Given the description of an element on the screen output the (x, y) to click on. 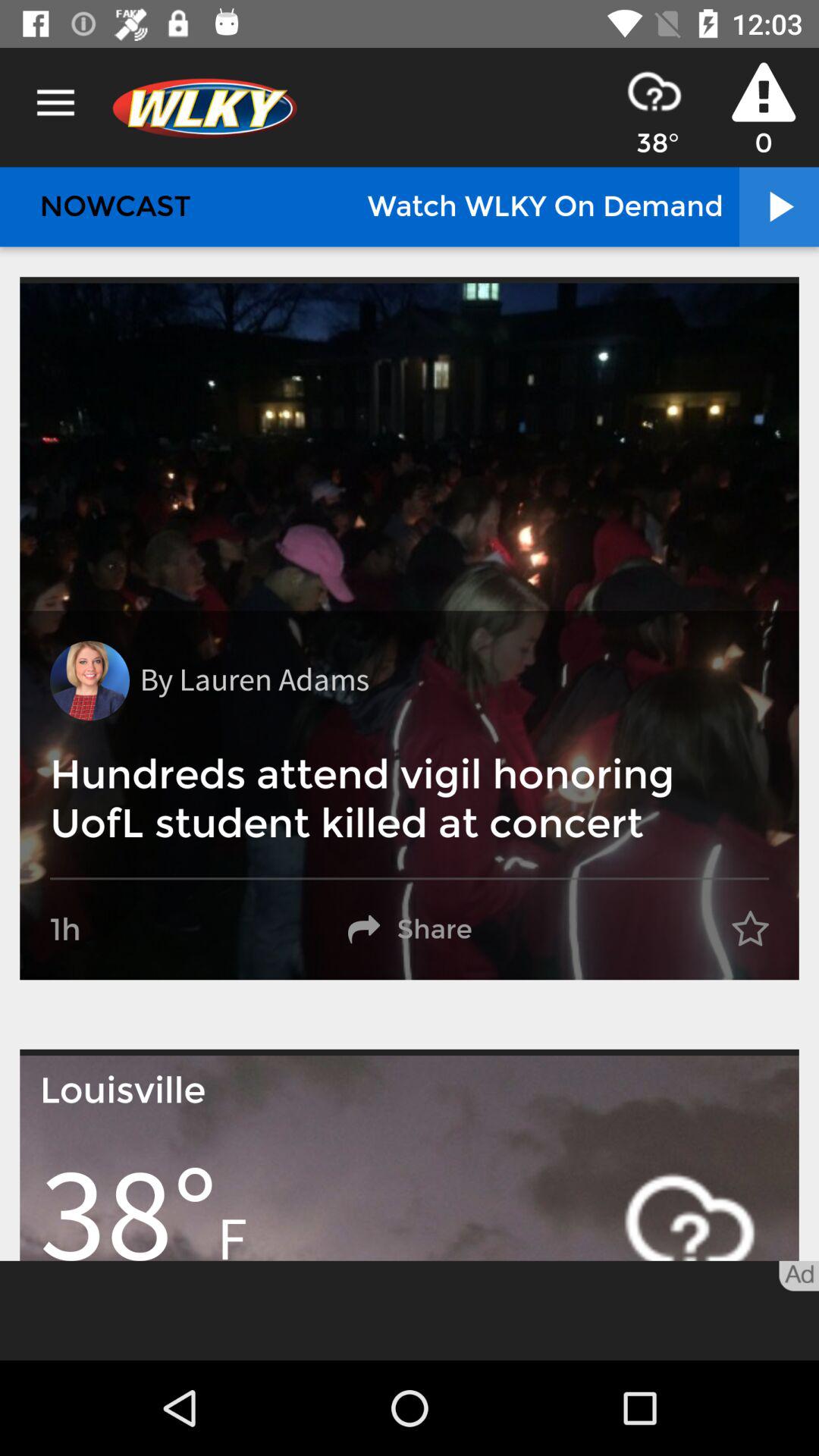
scroll until by lauren adams icon (254, 680)
